Given the description of an element on the screen output the (x, y) to click on. 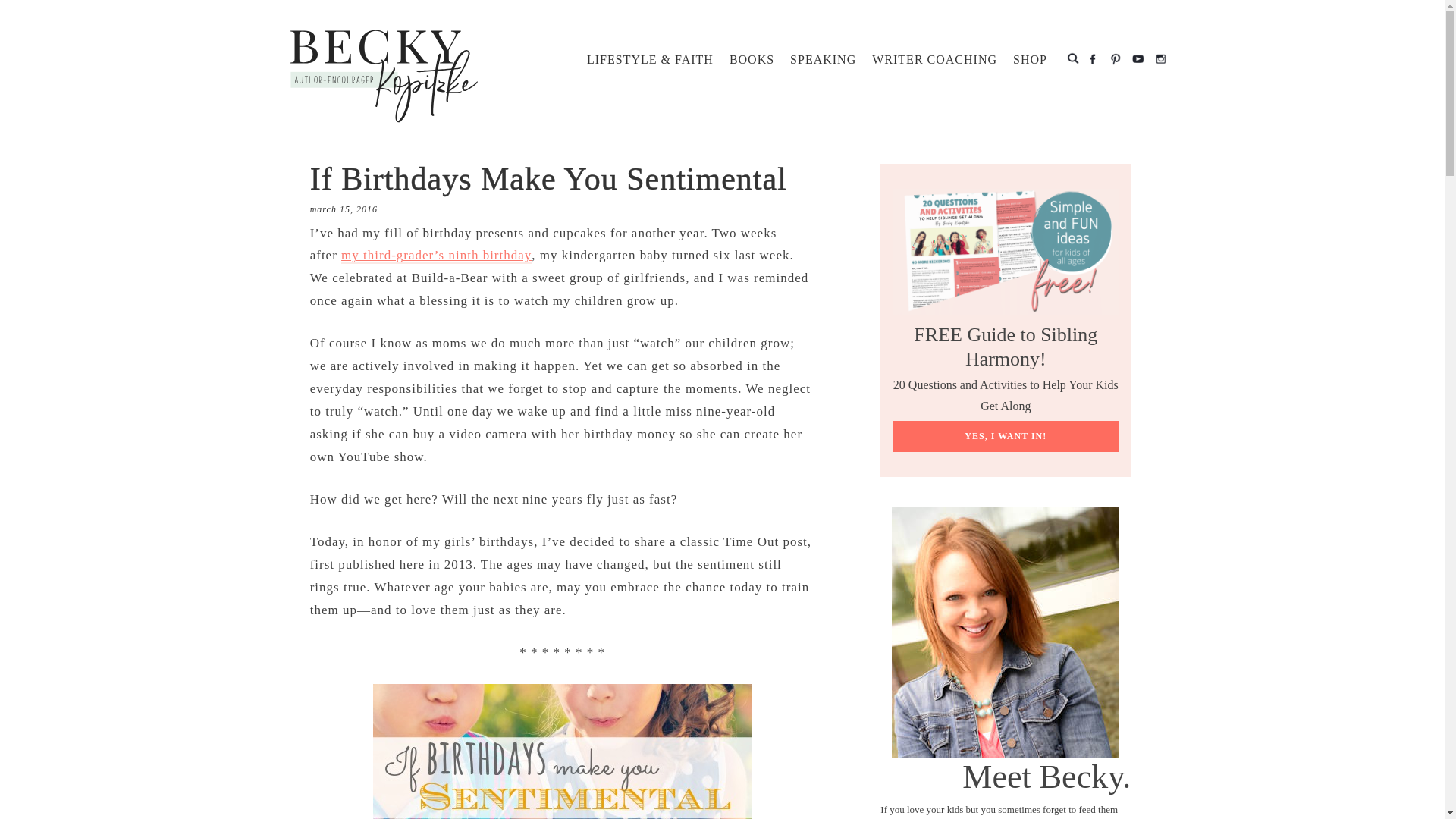
BECKY KOPITZKE (383, 76)
SHOP (1029, 59)
Rechercher (1072, 58)
Rechercher (1072, 58)
YES, I WANT IN! (1006, 436)
SPEAKING (822, 59)
WRITER COACHING (934, 59)
BOOKS (751, 59)
